Given the description of an element on the screen output the (x, y) to click on. 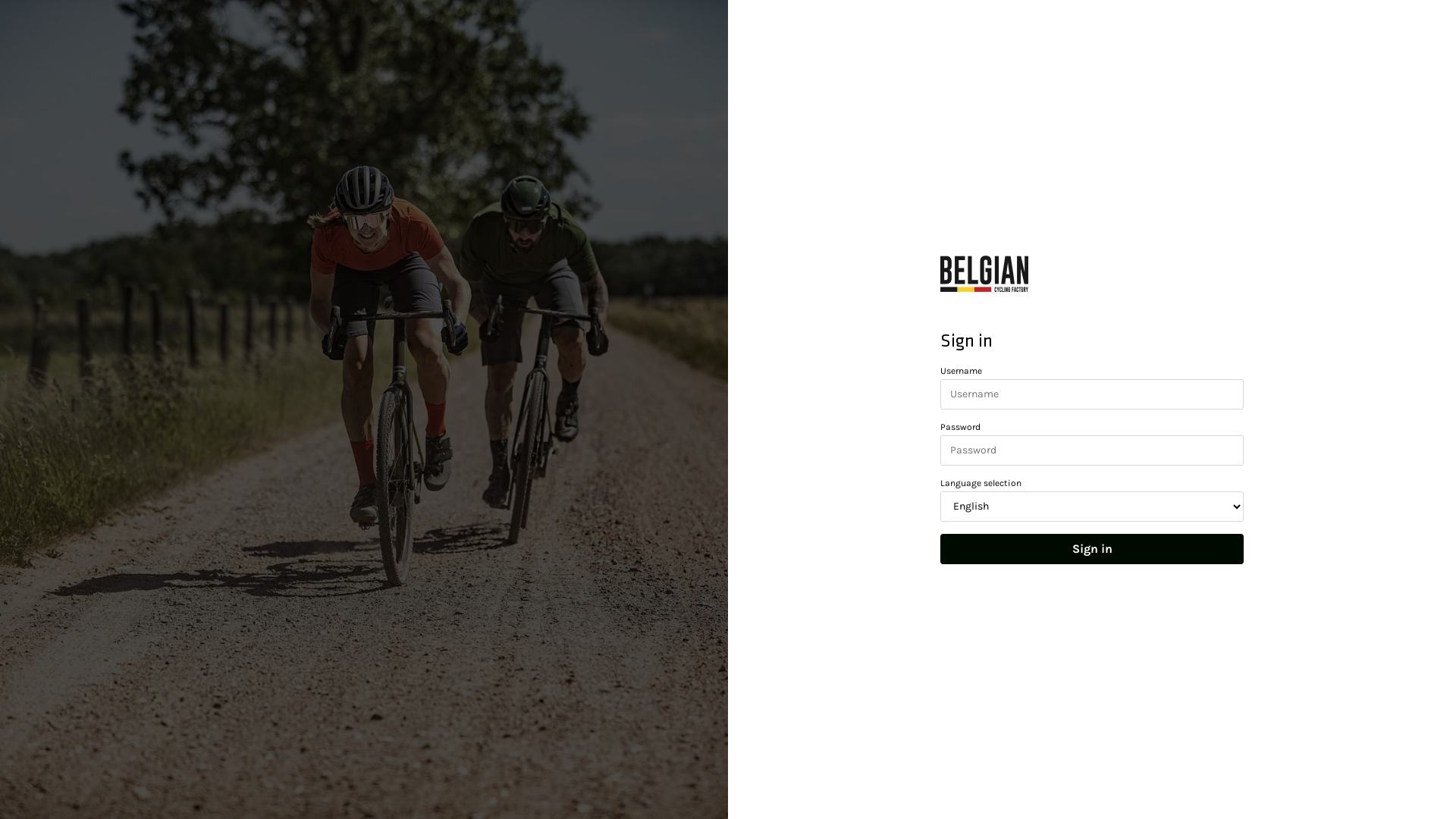
Sign in Element type: text (1091, 548)
